Given the description of an element on the screen output the (x, y) to click on. 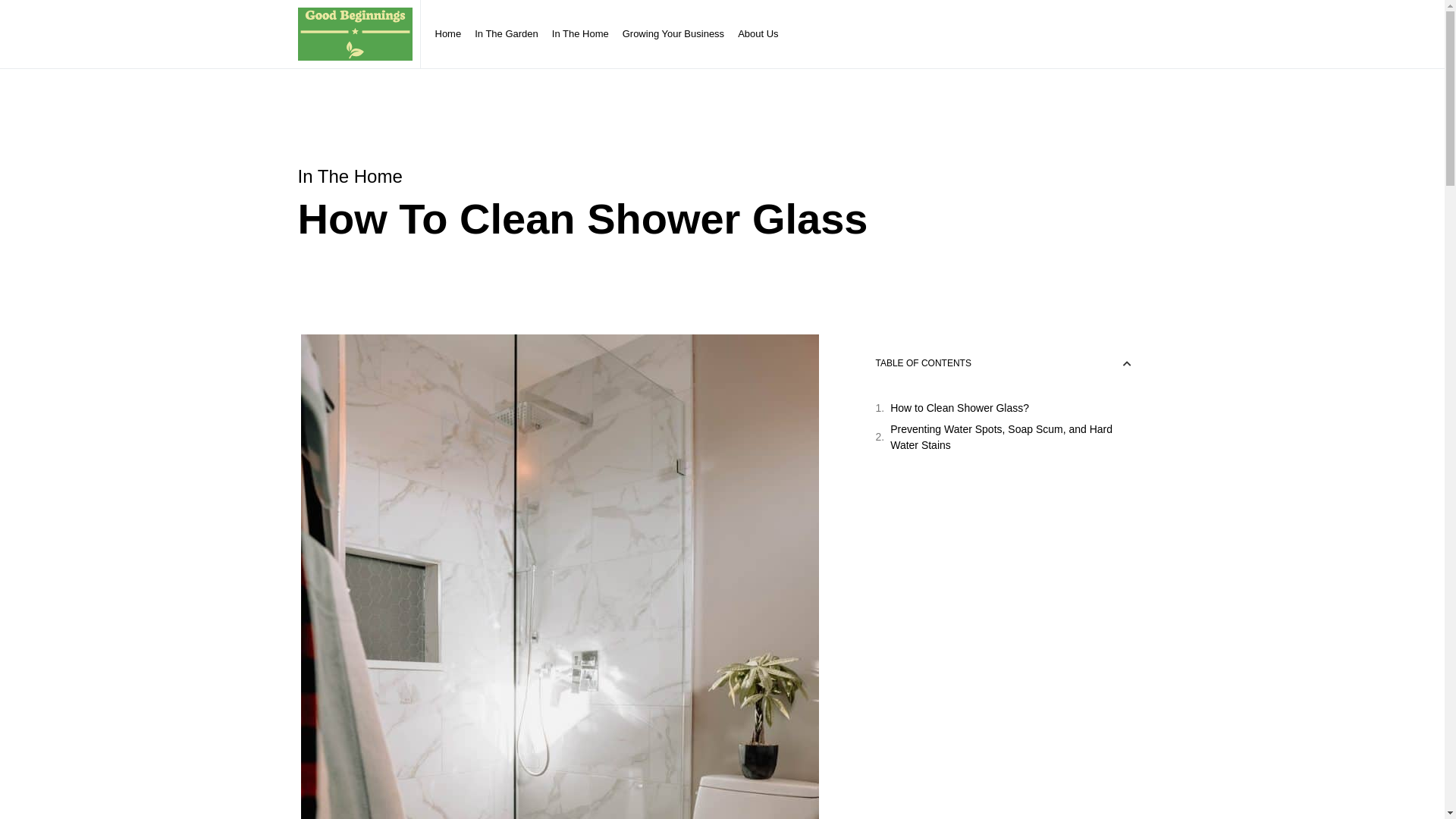
About Us Element type: text (757, 33)
Growing Your Business Element type: text (673, 33)
In The Garden Element type: text (506, 33)
How to Clean Shower Glass? Element type: text (959, 408)
Home Element type: text (447, 33)
Preventing Water Spots, Soap Scum, and Hard Water Stains Element type: text (1010, 437)
In The Home Element type: text (580, 33)
In The Home Element type: text (349, 176)
